Given the description of an element on the screen output the (x, y) to click on. 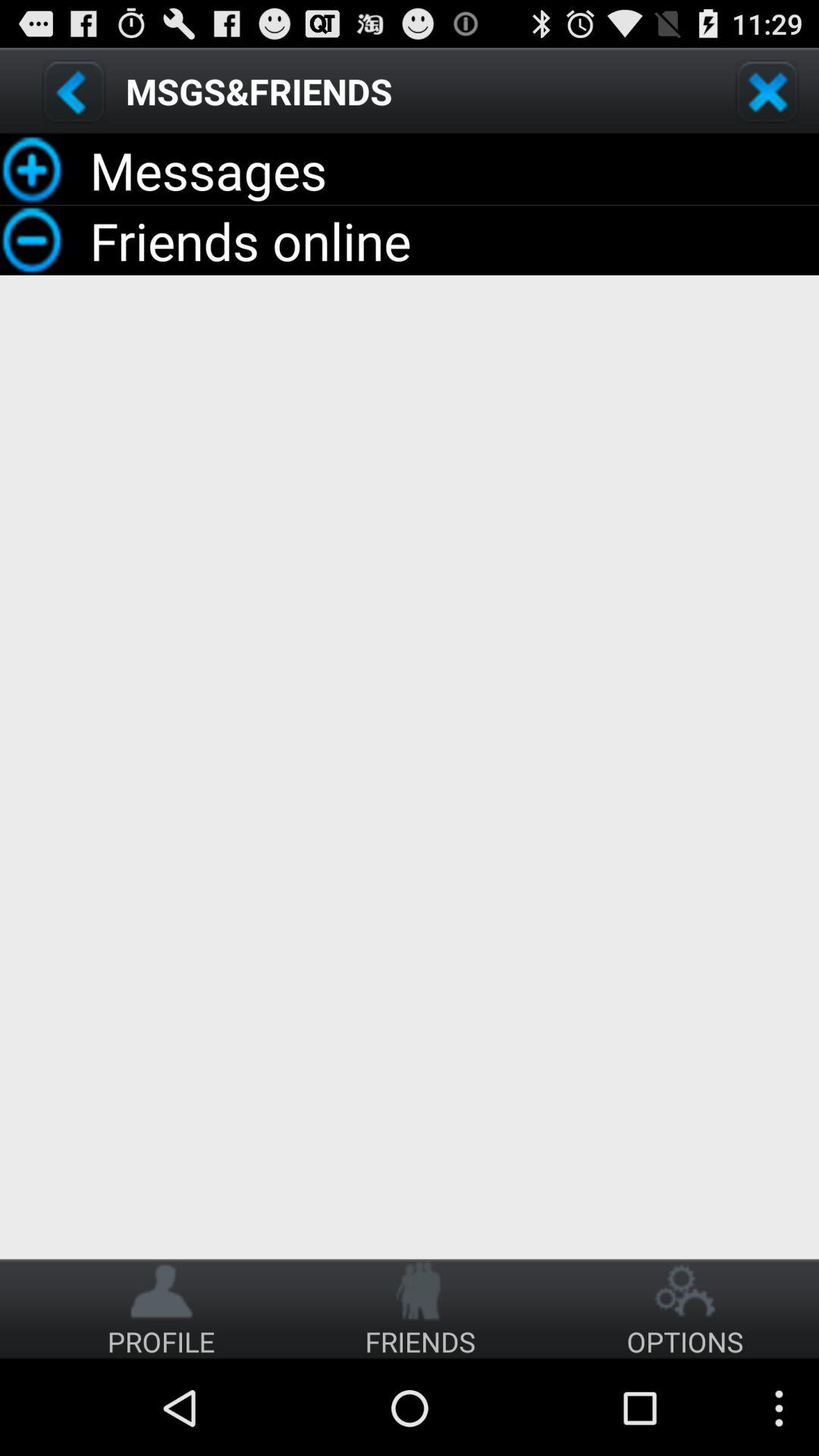
go to message (73, 91)
